Given the description of an element on the screen output the (x, y) to click on. 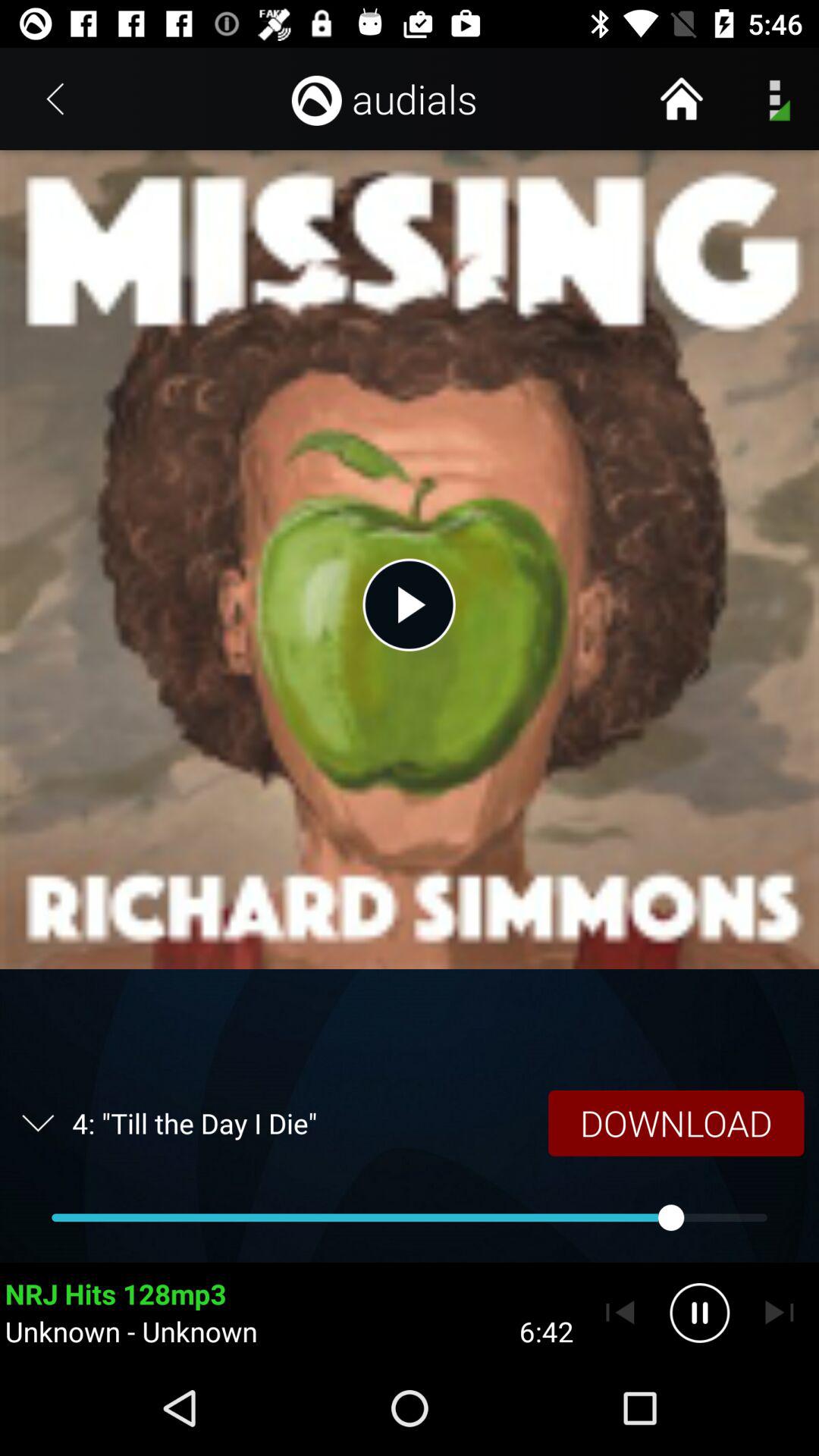
fast forward (779, 1312)
